Given the description of an element on the screen output the (x, y) to click on. 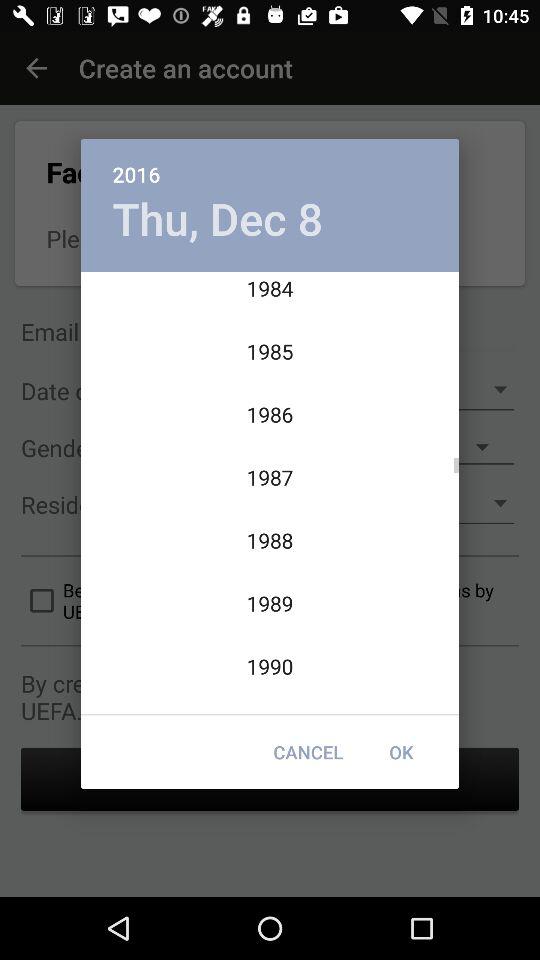
swipe to the 2016 (269, 163)
